Given the description of an element on the screen output the (x, y) to click on. 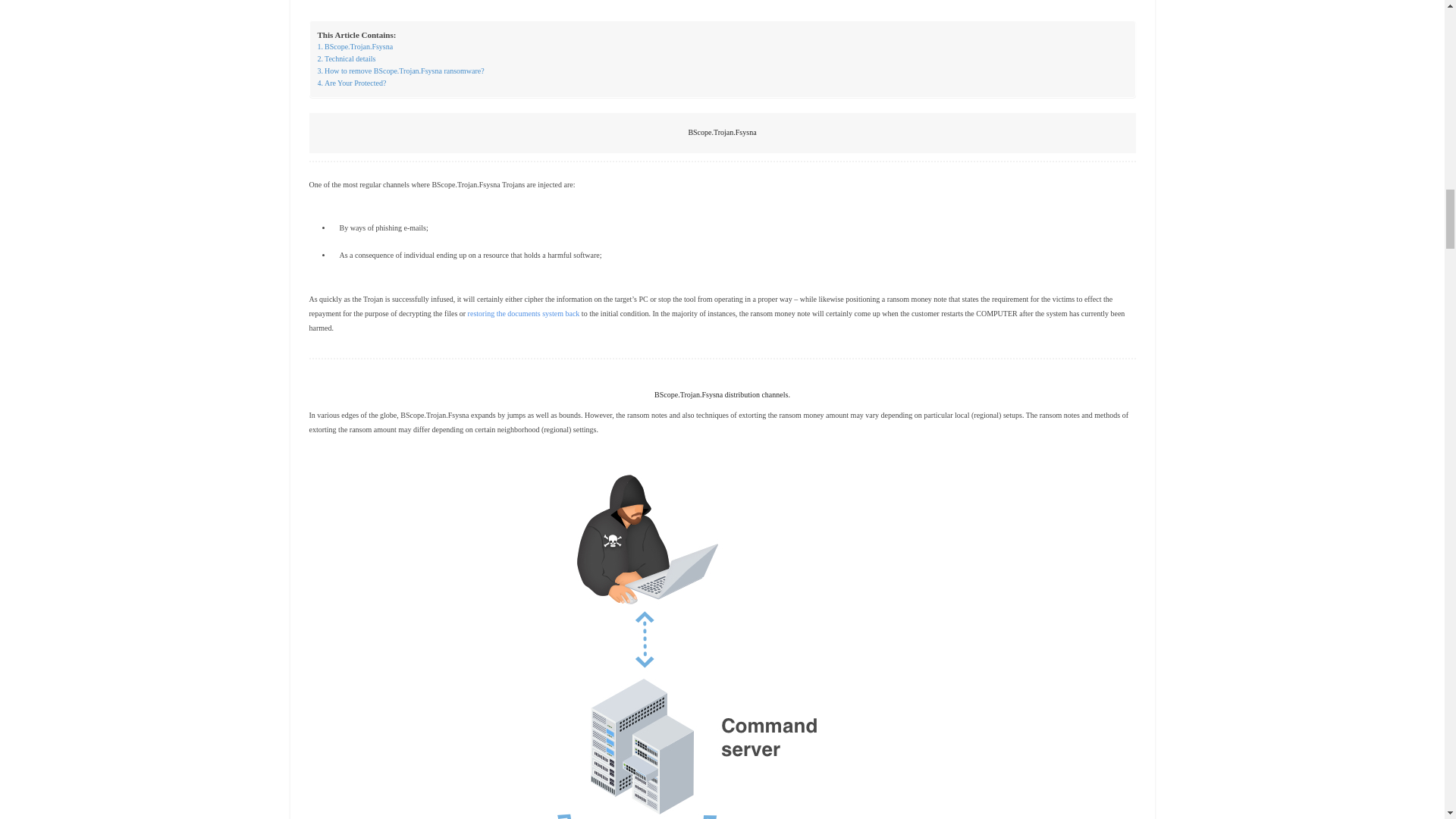
How to remove BScope.Trojan.Fsysna ransomware? (400, 70)
BScope.Trojan.Fsysna (355, 46)
Technical details (346, 59)
How to remove BScope.Trojan.Fsysna ransomware? (400, 70)
Technical details (346, 59)
Are Your Protected? (351, 82)
Are Your Protected? (351, 82)
BScope.Trojan.Fsysna (355, 46)
restoring the documents system back (523, 313)
